Given the description of an element on the screen output the (x, y) to click on. 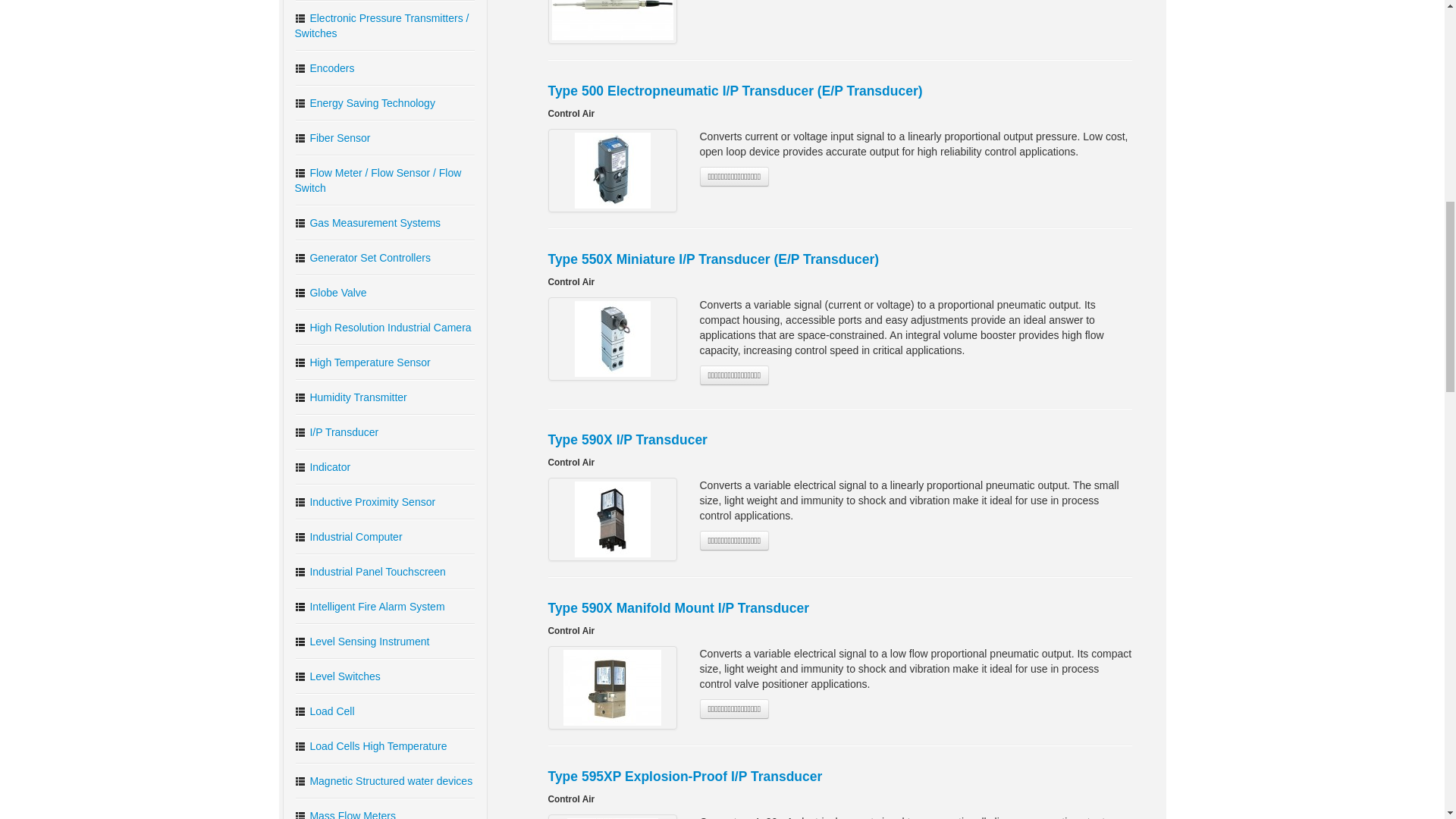
Generator Set Controllers (384, 257)
Inductive Proximity Sensor (384, 501)
Encoders (384, 67)
Fiber Sensor (384, 137)
Indicator (384, 466)
High Temperature Sensor (384, 362)
Gas Measurement Systems (384, 222)
Globe Valve (384, 292)
Energy Saving Technology (384, 103)
Humidity Transmitter (384, 397)
View Category - Encoders (384, 67)
High Resolution Industrial Camera (384, 327)
